Given the description of an element on the screen output the (x, y) to click on. 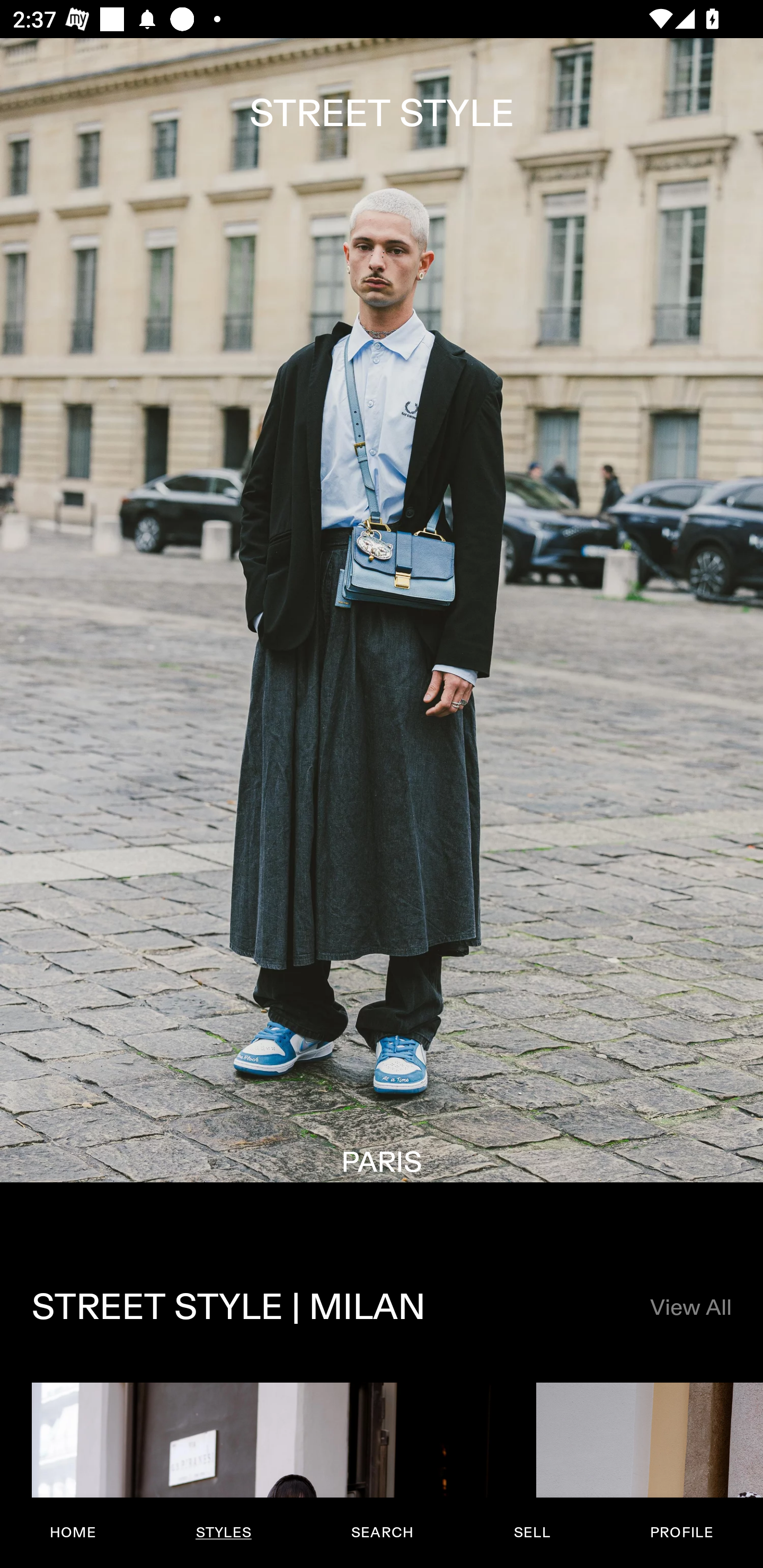
View All (690, 1308)
HOME (72, 1532)
STYLES (222, 1532)
SEARCH (381, 1532)
SELL (531, 1532)
PROFILE (681, 1532)
